Given the description of an element on the screen output the (x, y) to click on. 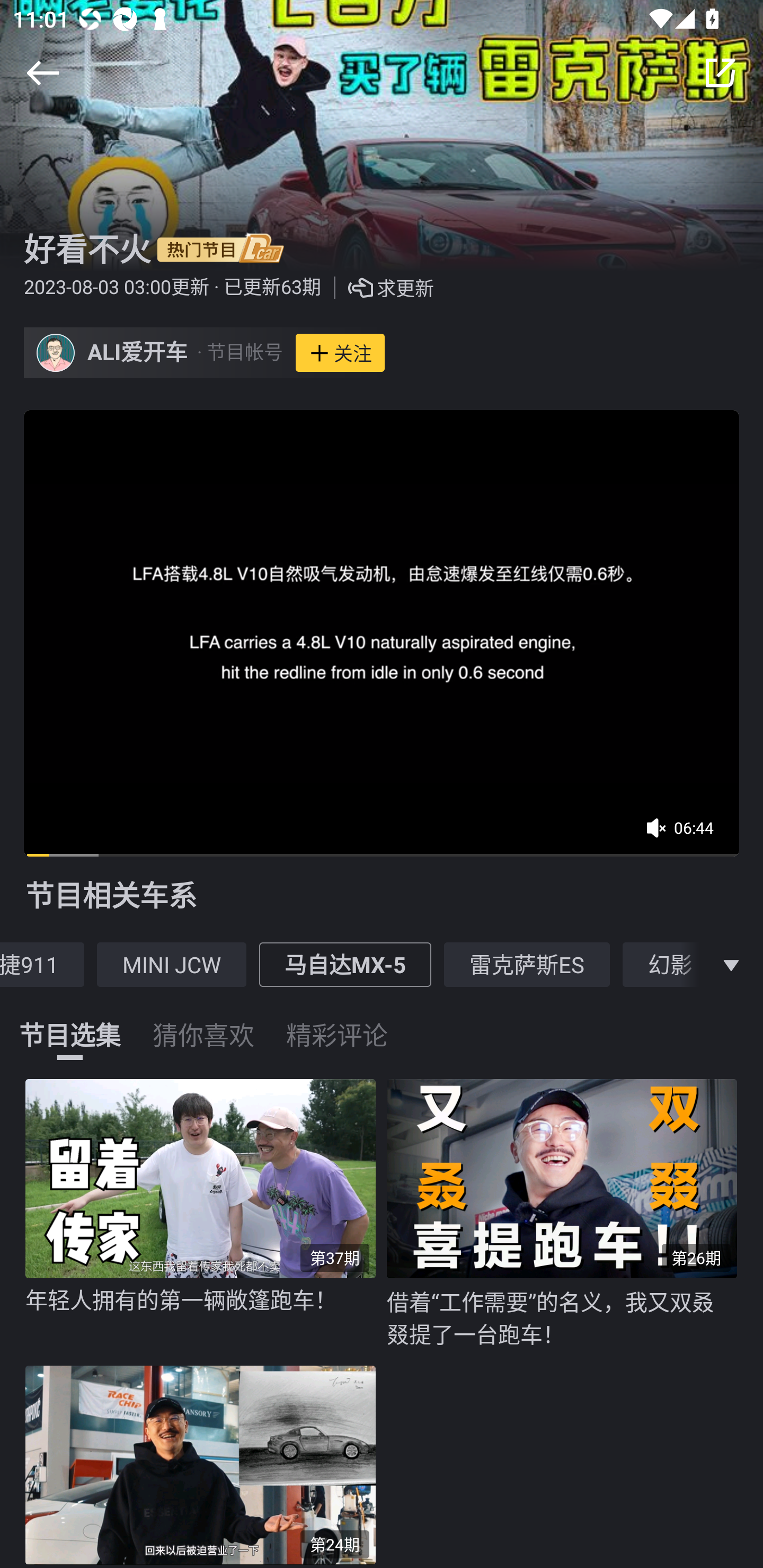
 (42, 72)
 (720, 72)
 求更新 (377, 287)
ALI爱开车 (137, 352)
· 节目帐号 (239, 352)
 关注 (340, 352)
06:44 (685, 834)
 (731, 963)
MINI JCW (171, 964)
马自达MX-5 (345, 964)
雷克萨斯ES (526, 964)
幻影 (669, 964)
节目选集 (69, 1023)
猜你喜欢 (203, 1023)
精彩评论 (336, 1023)
第37期 年轻人拥有的第一辆敞篷跑车！ (205, 1212)
第26期 借着“工作需要”的名义，我又双叒叕提了一台跑车！ (567, 1214)
第24期 (205, 1462)
